Given the description of an element on the screen output the (x, y) to click on. 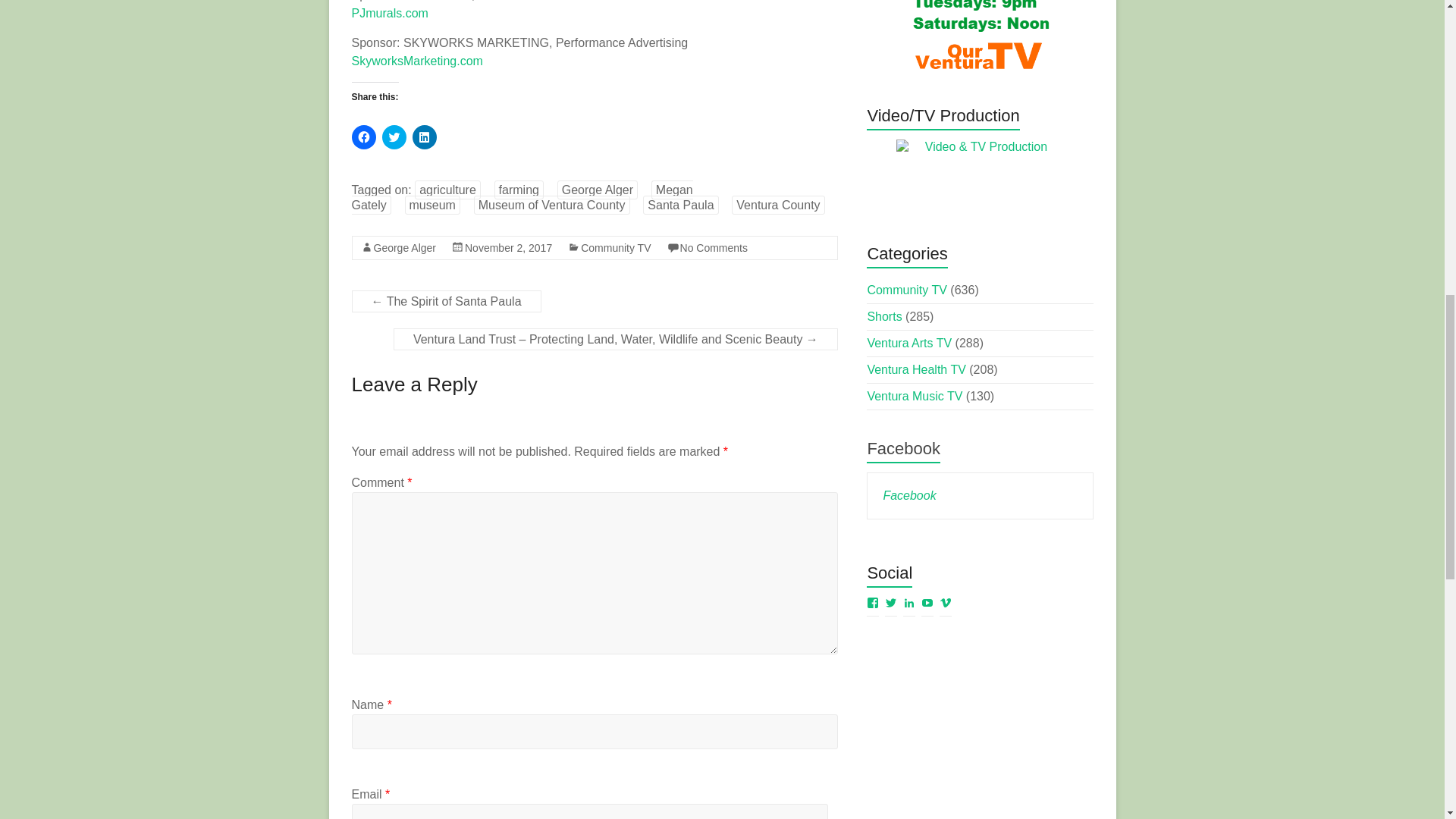
Santa Paula (680, 204)
George Alger (403, 247)
SkyworksMarketing.com (417, 60)
Click to share on Twitter (393, 137)
farming (519, 189)
Megan Gately (522, 197)
agriculture (447, 189)
museum (432, 204)
Ventura County (778, 204)
PJmurals.com (390, 12)
